Given the description of an element on the screen output the (x, y) to click on. 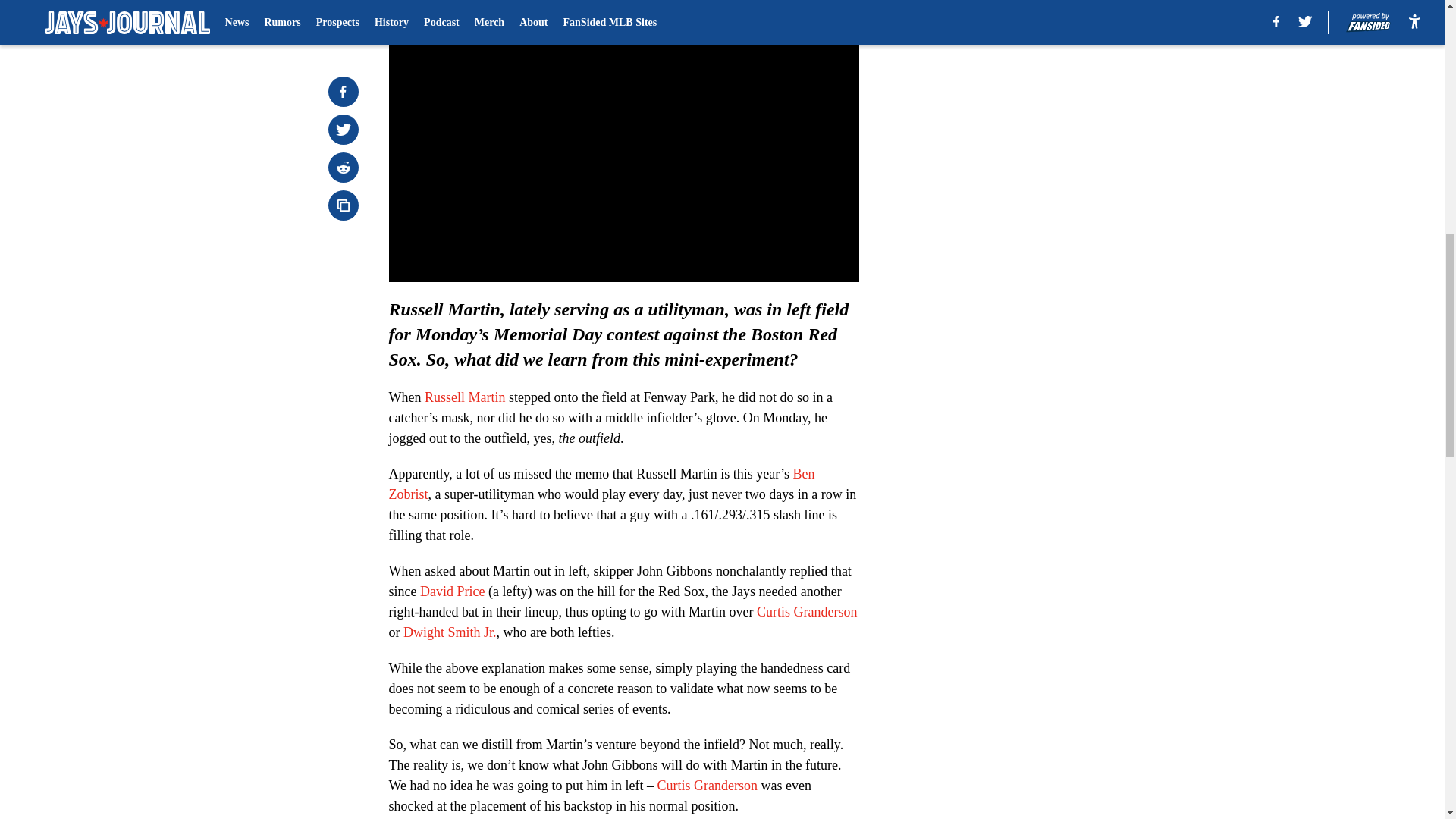
Ben Zobrist (600, 484)
Curtis Granderson (706, 785)
Russell Martin (465, 396)
Dwight Smith Jr. (449, 631)
David Price (452, 590)
Curtis Granderson (807, 611)
